Given the description of an element on the screen output the (x, y) to click on. 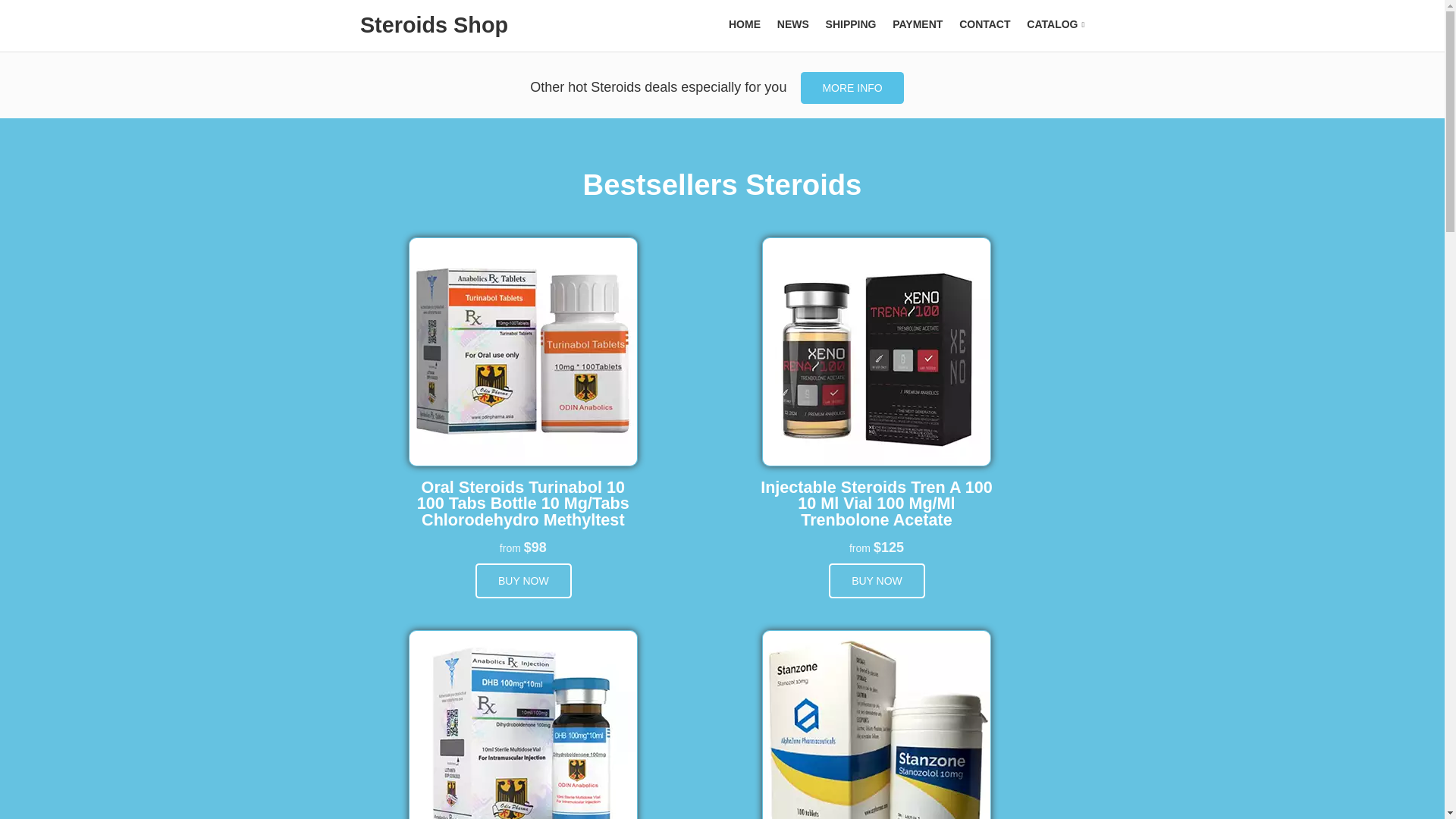
MORE INFO (851, 88)
CONTACT (984, 24)
HOME (744, 24)
Steroids Shop (433, 24)
PAYMENT (917, 24)
BUY NOW (524, 580)
BUY NOW (876, 580)
SHIPPING (850, 24)
CATALOG (1055, 24)
NEWS (793, 24)
